Given the description of an element on the screen output the (x, y) to click on. 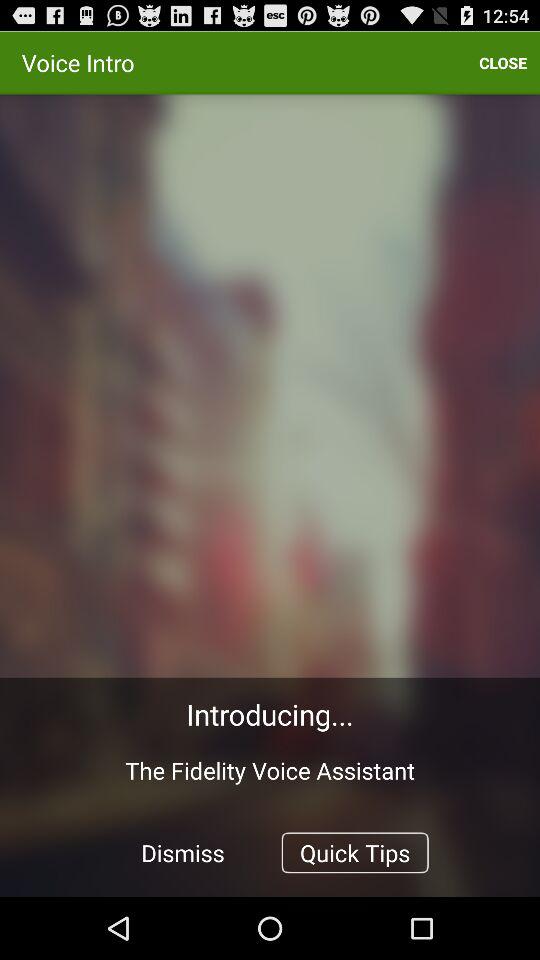
turn off the dismiss (183, 852)
